Given the description of an element on the screen output the (x, y) to click on. 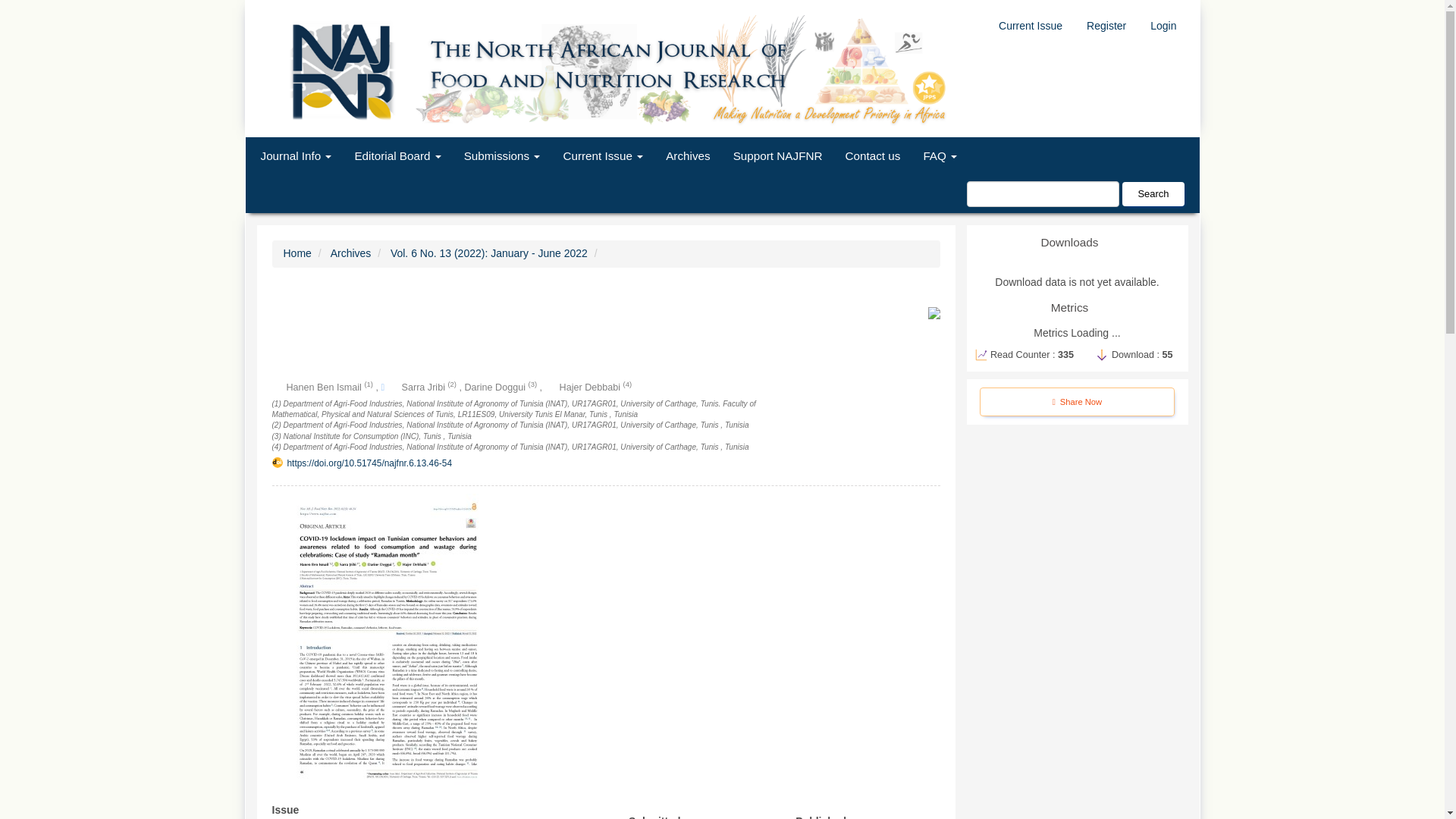
Current Issue (602, 156)
Archives (686, 156)
Submissions (501, 156)
Journal Info (295, 156)
Current Issue (1030, 26)
Editorial Board (396, 156)
FAQ (939, 156)
Login (1163, 26)
Register (1106, 26)
Contact us (871, 156)
